Given the description of an element on the screen output the (x, y) to click on. 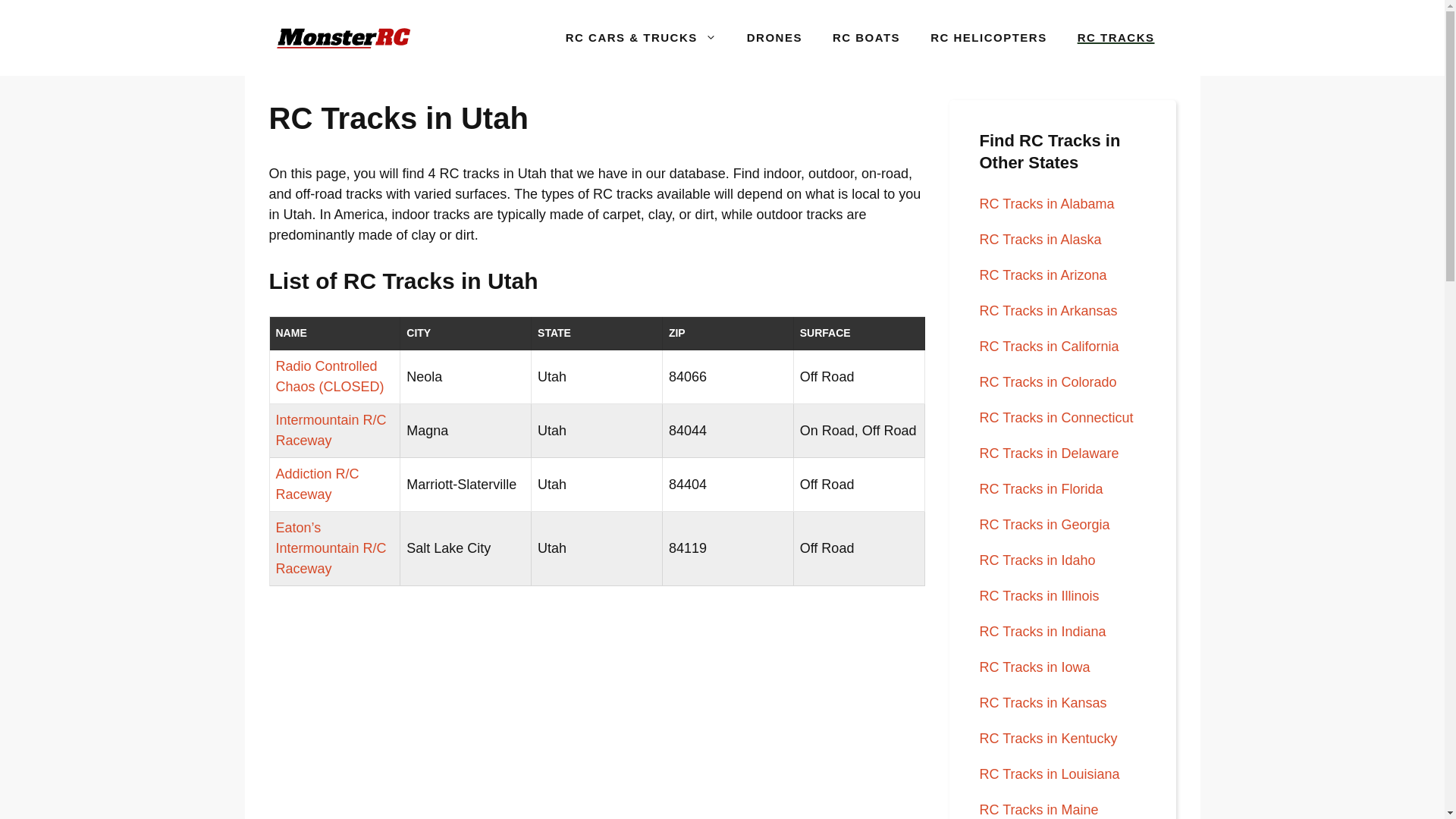
RC Tracks in Louisiana (1049, 774)
RC HELICOPTERS (988, 37)
RC BOATS (865, 37)
RC Tracks in Delaware (1049, 453)
RC Tracks in Georgia (1044, 524)
RC Tracks in Alaska (1040, 239)
RC Tracks in Kansas (1042, 702)
RC Tracks in Connecticut (1056, 417)
RC TRACKS (1116, 37)
RC Tracks in Florida (1041, 488)
RC Tracks in Idaho (1037, 560)
DRONES (774, 37)
RC Tracks in Illinois (1039, 595)
RC Tracks in Alabama (1047, 203)
RC Tracks in Kentucky (1048, 738)
